Given the description of an element on the screen output the (x, y) to click on. 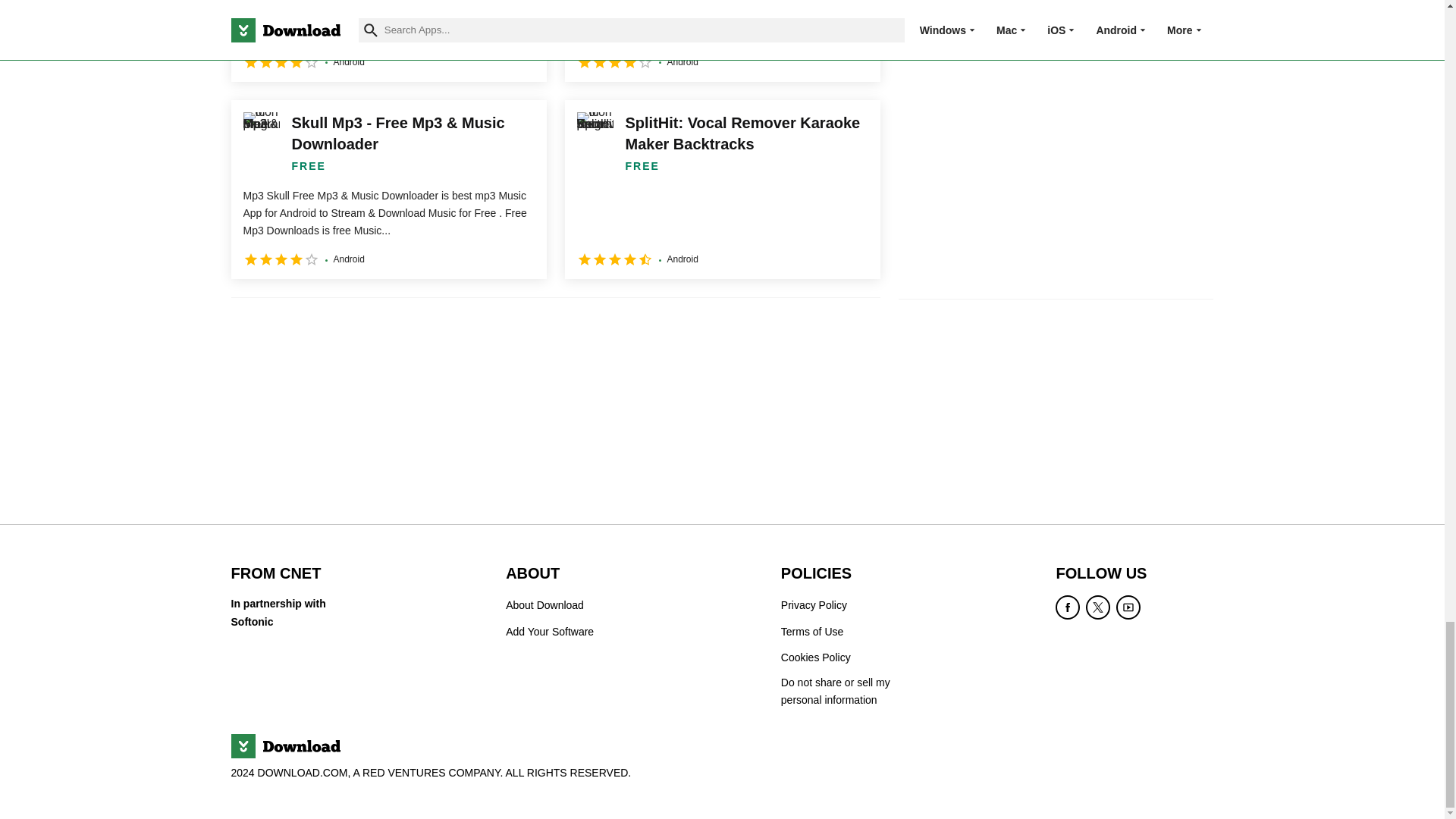
Become a Facebook fan of Download.com (1067, 607)
Download.com (284, 745)
SplitHit: Vocal Remover Karaoke Maker Backtracks (721, 189)
Mp3Juice - Free Mp3 Juice Download (388, 40)
